Given the description of an element on the screen output the (x, y) to click on. 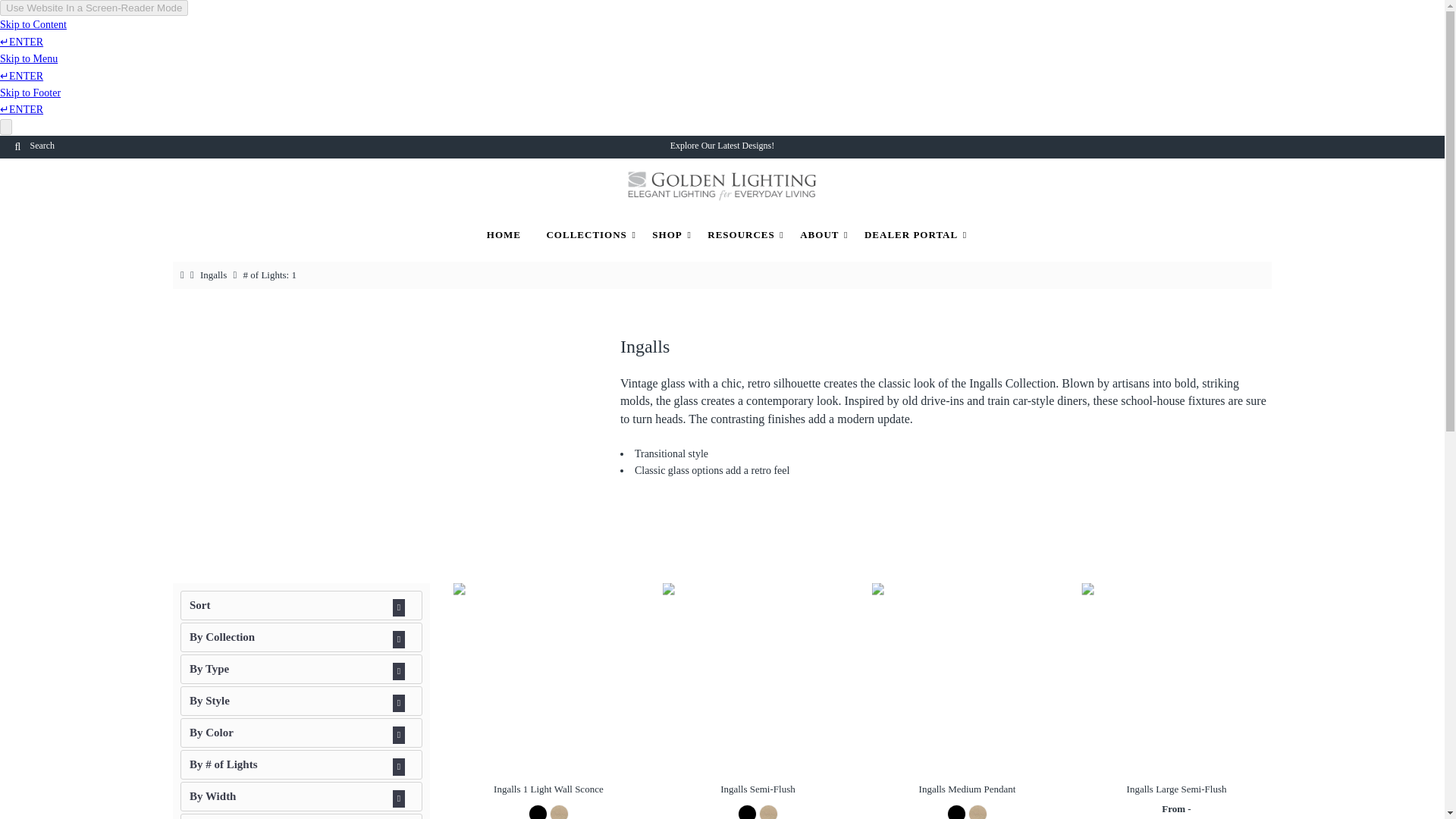
See What's New (744, 145)
